Given the description of an element on the screen output the (x, y) to click on. 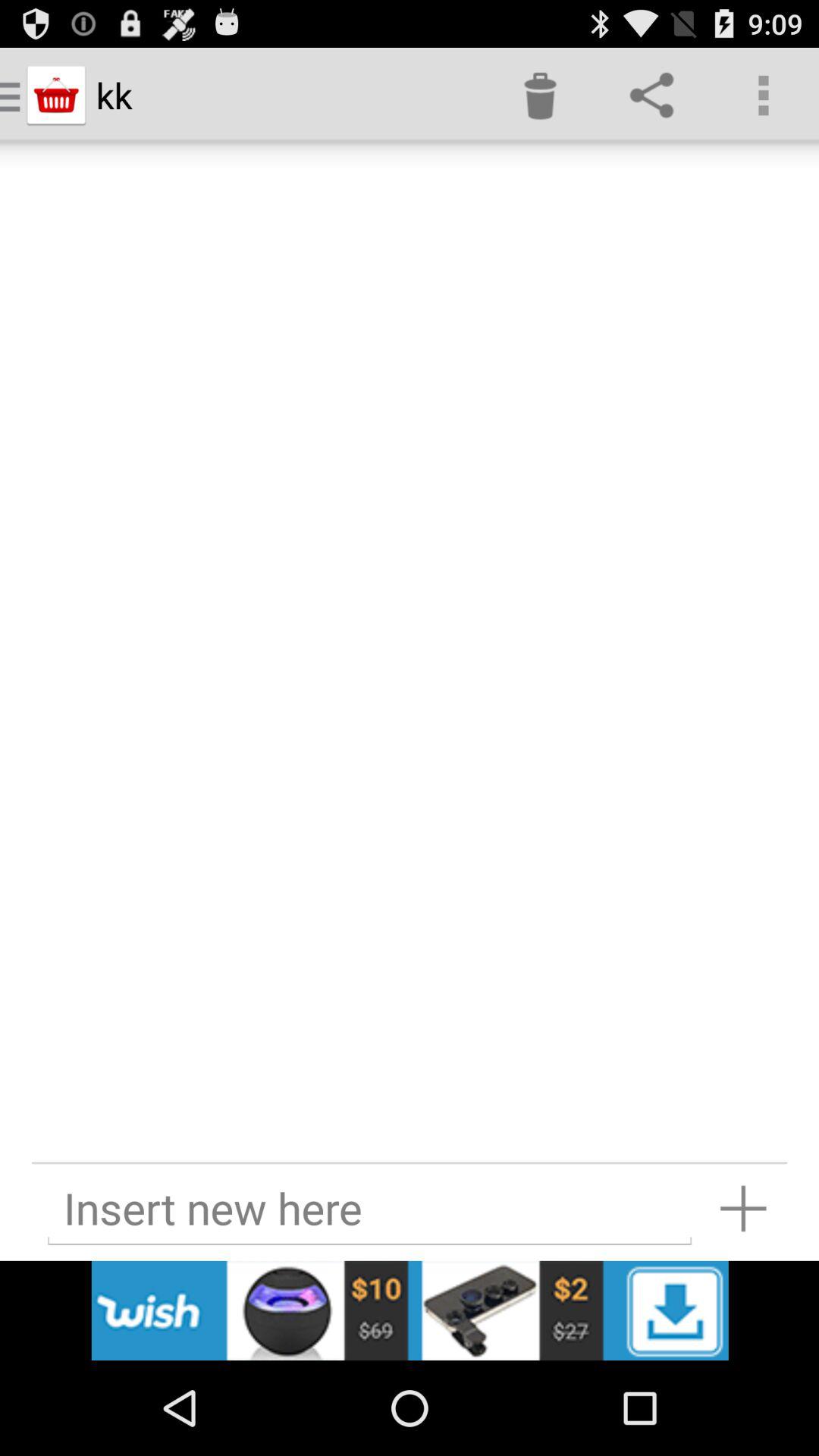
add item to list (743, 1208)
